Given the description of an element on the screen output the (x, y) to click on. 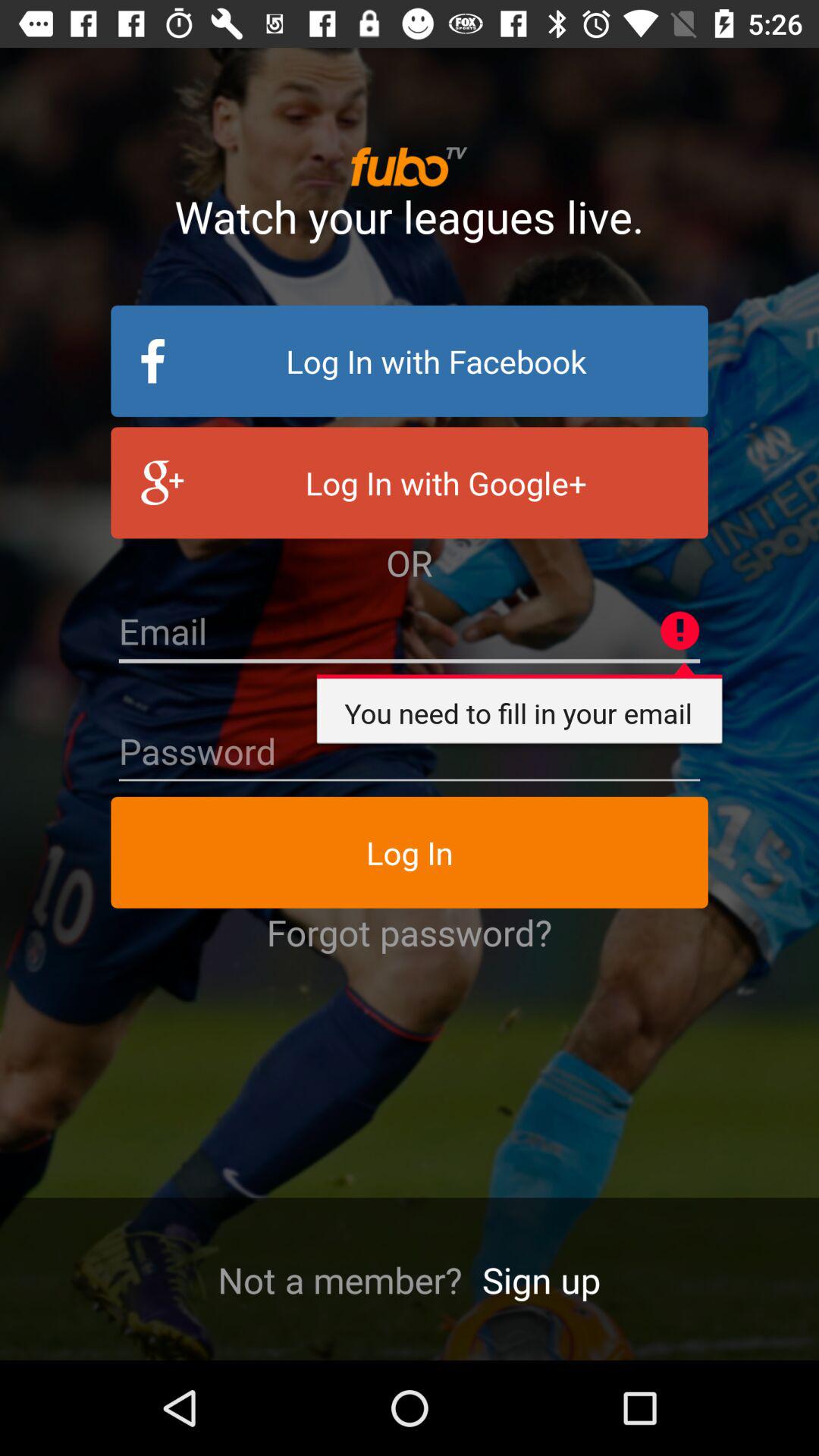
launch the forgot password? (409, 932)
